Given the description of an element on the screen output the (x, y) to click on. 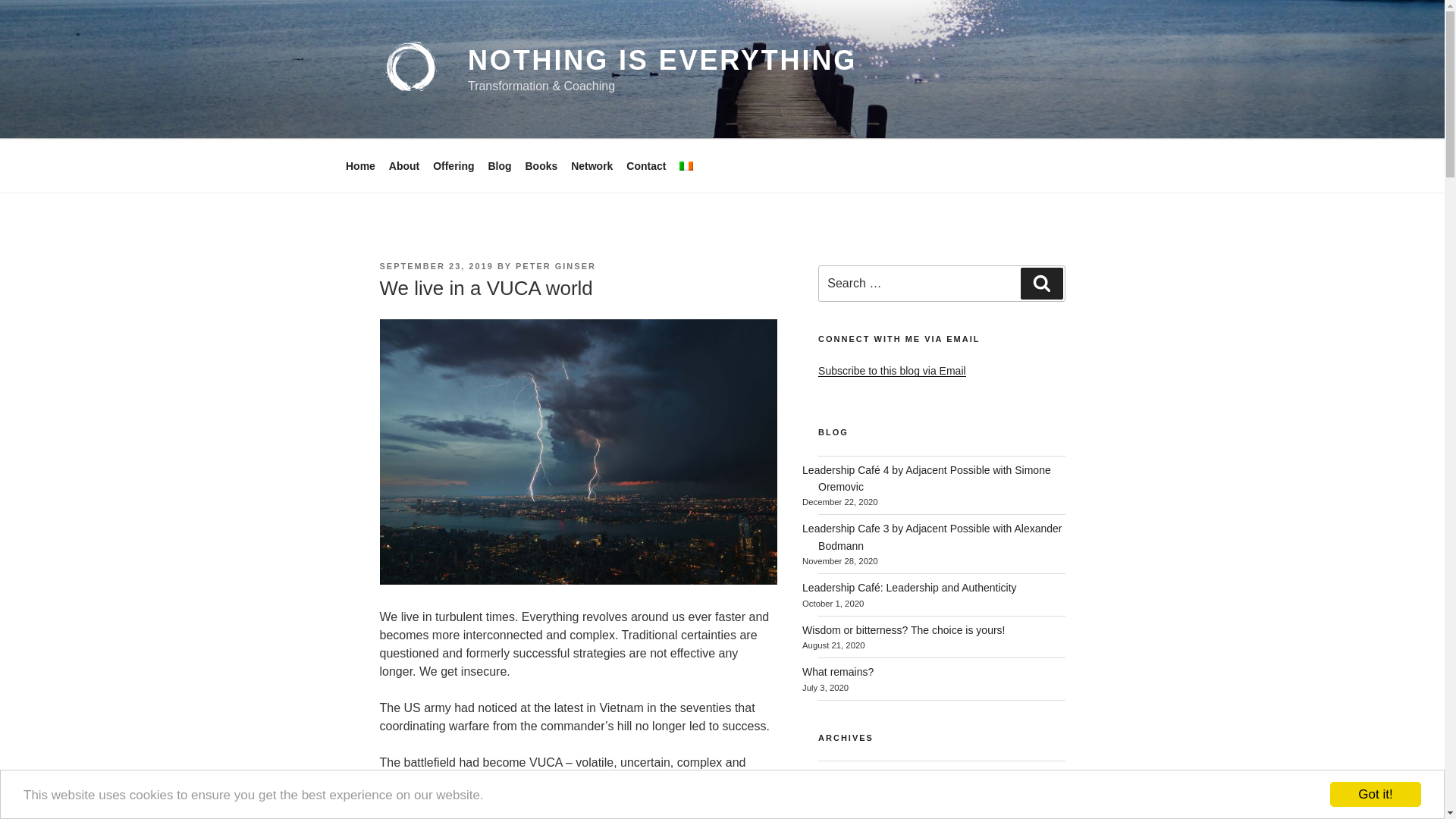
SEPTEMBER 23, 2019 (435, 266)
Books (548, 165)
November 2020 (839, 803)
Wisdom or bitterness? The choice is yours! (903, 630)
PETER GINSER (555, 266)
December 2020 (839, 775)
Home (368, 165)
About (411, 165)
Offering (461, 165)
Blog (507, 165)
Subscribe to this blog via Email (892, 370)
Search (1041, 283)
NOTHING IS EVERYTHING (662, 60)
Network (599, 165)
Contact (653, 165)
